Given the description of an element on the screen output the (x, y) to click on. 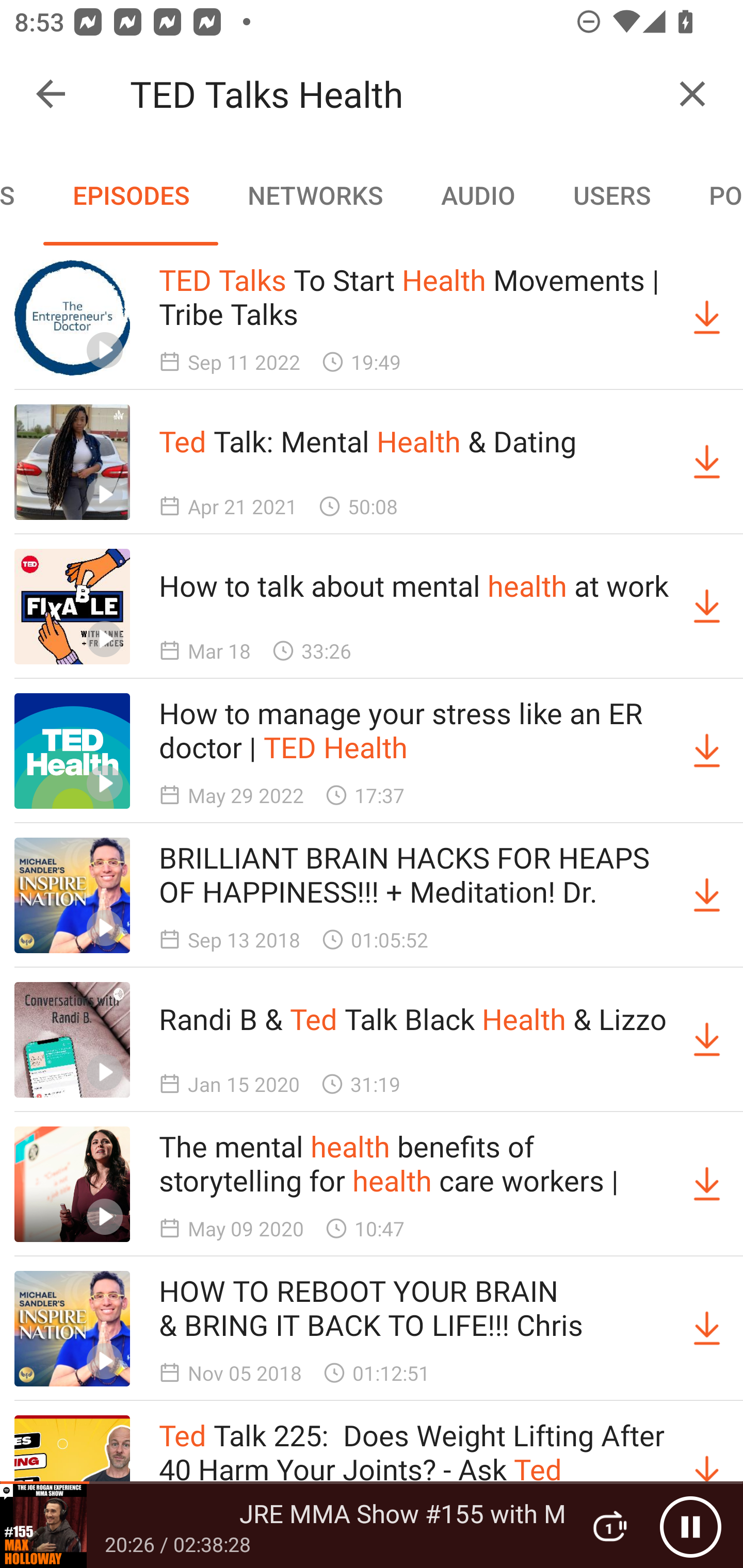
Collapse (50, 93)
Clear query (692, 93)
TED Talks Health (393, 94)
EPISODES (130, 195)
NETWORKS (314, 195)
AUDIO (477, 195)
USERS (611, 195)
Download (706, 317)
Download (706, 462)
Download (706, 606)
Download (706, 751)
Download (706, 895)
Download (706, 1039)
Download (706, 1183)
Download (706, 1328)
Pause (690, 1526)
